Given the description of an element on the screen output the (x, y) to click on. 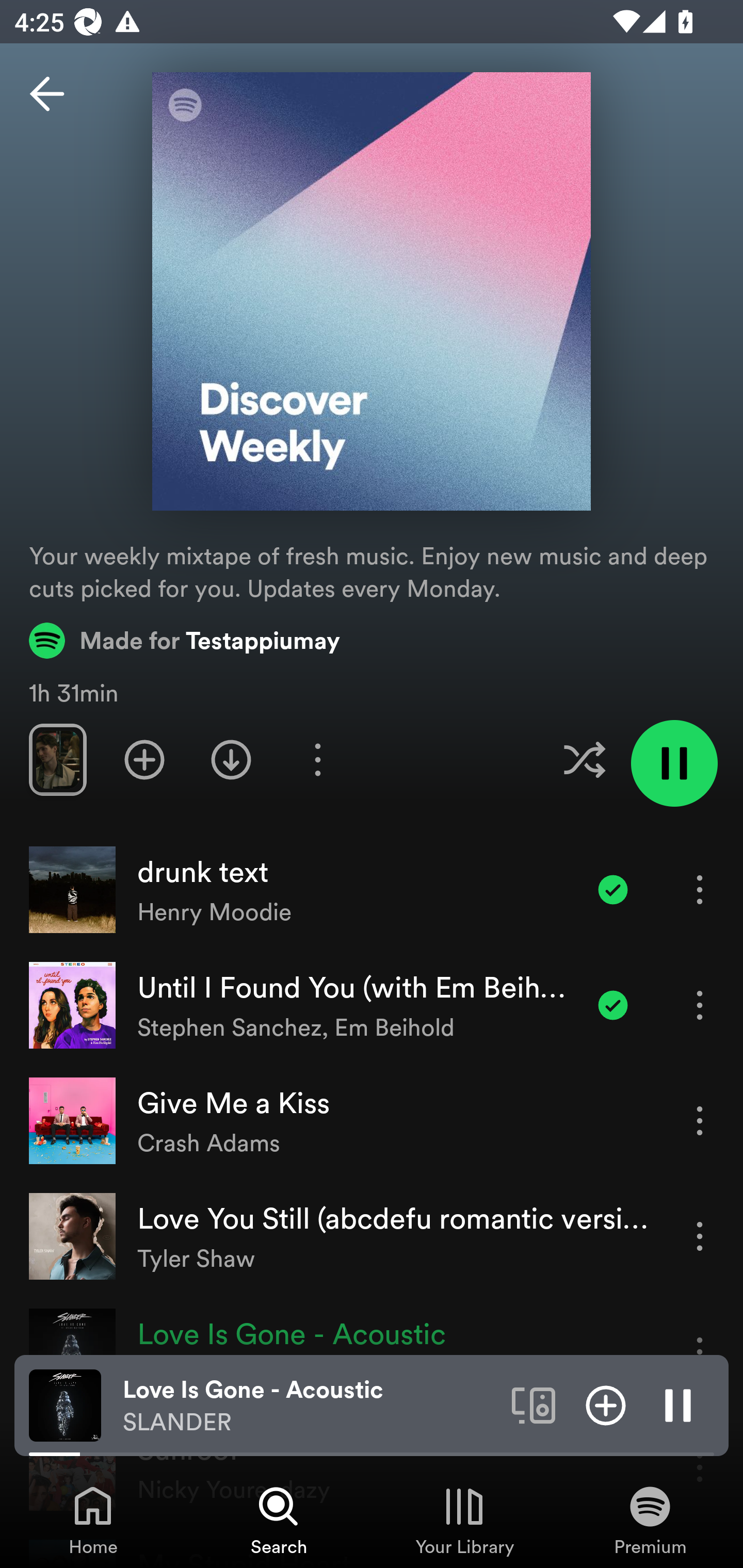
Back (46, 93)
Made for Testappiumay (184, 640)
Swipe through previews of tracks in this playlist. (57, 759)
Add playlist to Your Library (144, 759)
Download (230, 759)
More options for playlist Discover Weekly (317, 759)
Enable shuffle for this playlist (583, 759)
Pause playlist (674, 763)
Item added (612, 889)
More options for song drunk text (699, 889)
Item added (612, 1004)
More options for song Give Me a Kiss (699, 1120)
Love Is Gone - Acoustic SLANDER (309, 1405)
The cover art of the currently playing track (64, 1404)
Connect to a device. Opens the devices menu (533, 1404)
Add item (605, 1404)
Pause (677, 1404)
Home, Tab 1 of 4 Home Home (92, 1519)
Search, Tab 2 of 4 Search Search (278, 1519)
Your Library, Tab 3 of 4 Your Library Your Library (464, 1519)
Premium, Tab 4 of 4 Premium Premium (650, 1519)
